Given the description of an element on the screen output the (x, y) to click on. 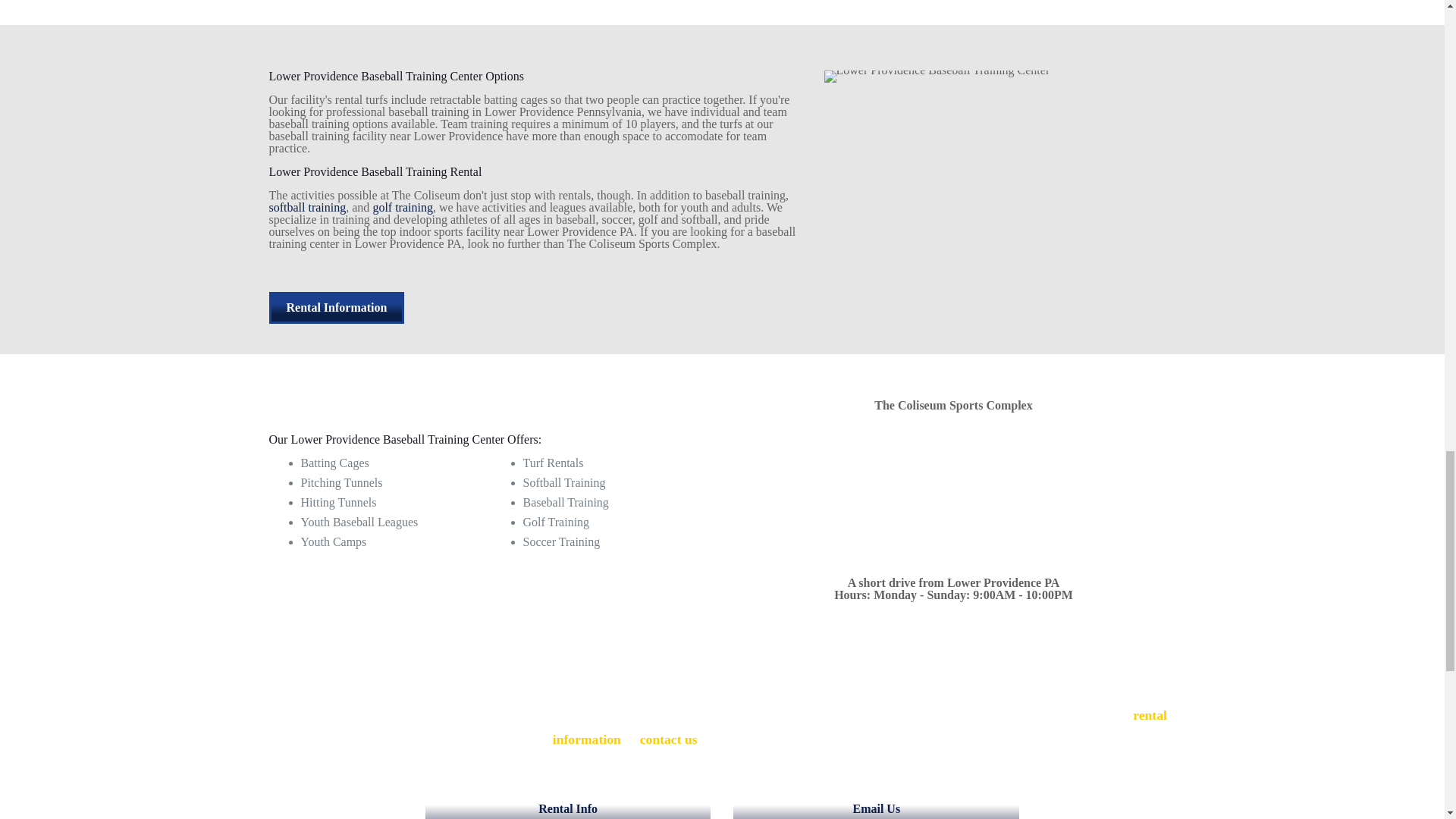
Rental Info (568, 806)
softball training (306, 206)
golf training (402, 206)
Rental Information (335, 307)
Email Us (876, 806)
rental information (860, 726)
contact us (668, 739)
